Given the description of an element on the screen output the (x, y) to click on. 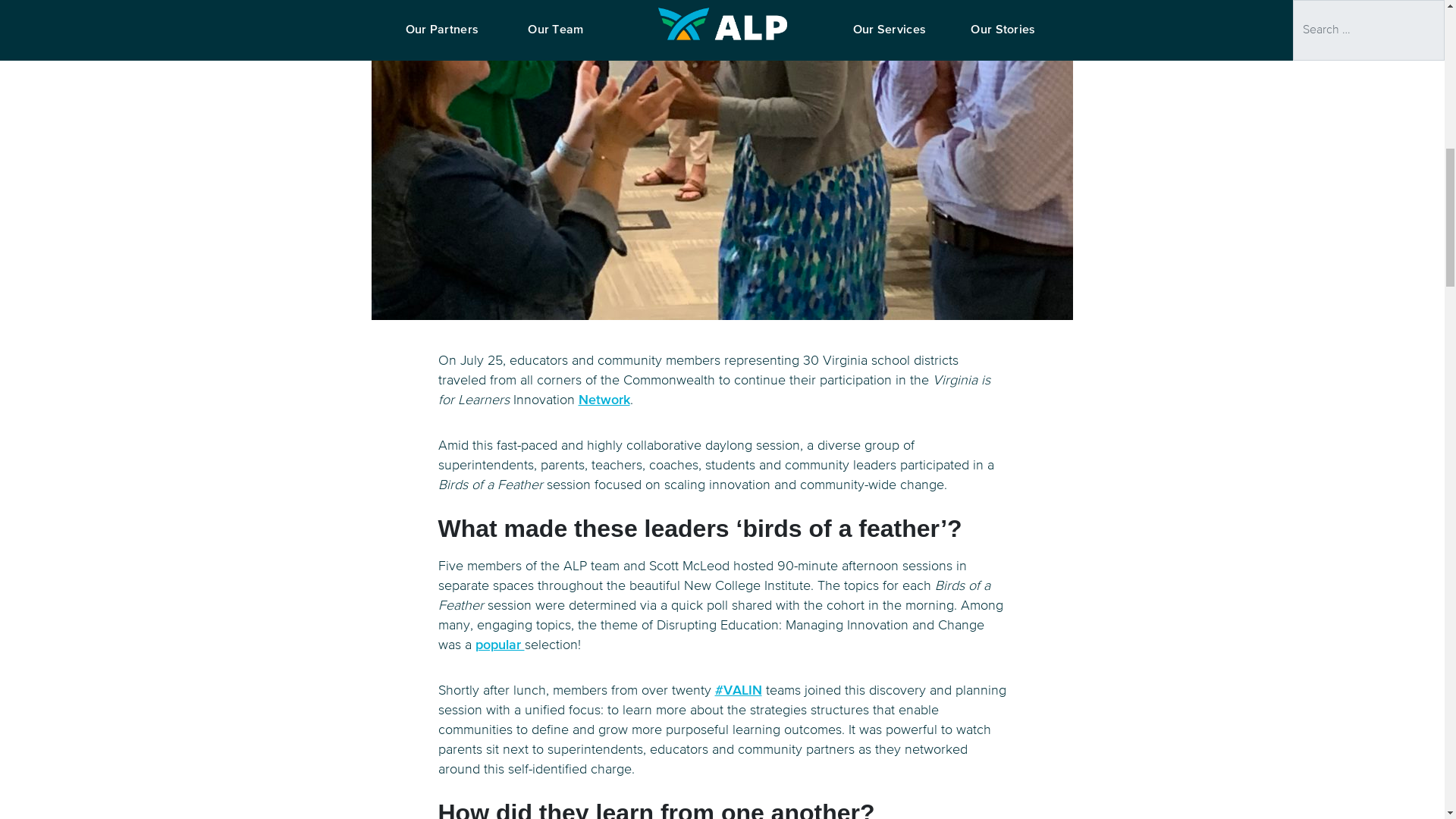
popular (499, 644)
Network (603, 400)
